Given the description of an element on the screen output the (x, y) to click on. 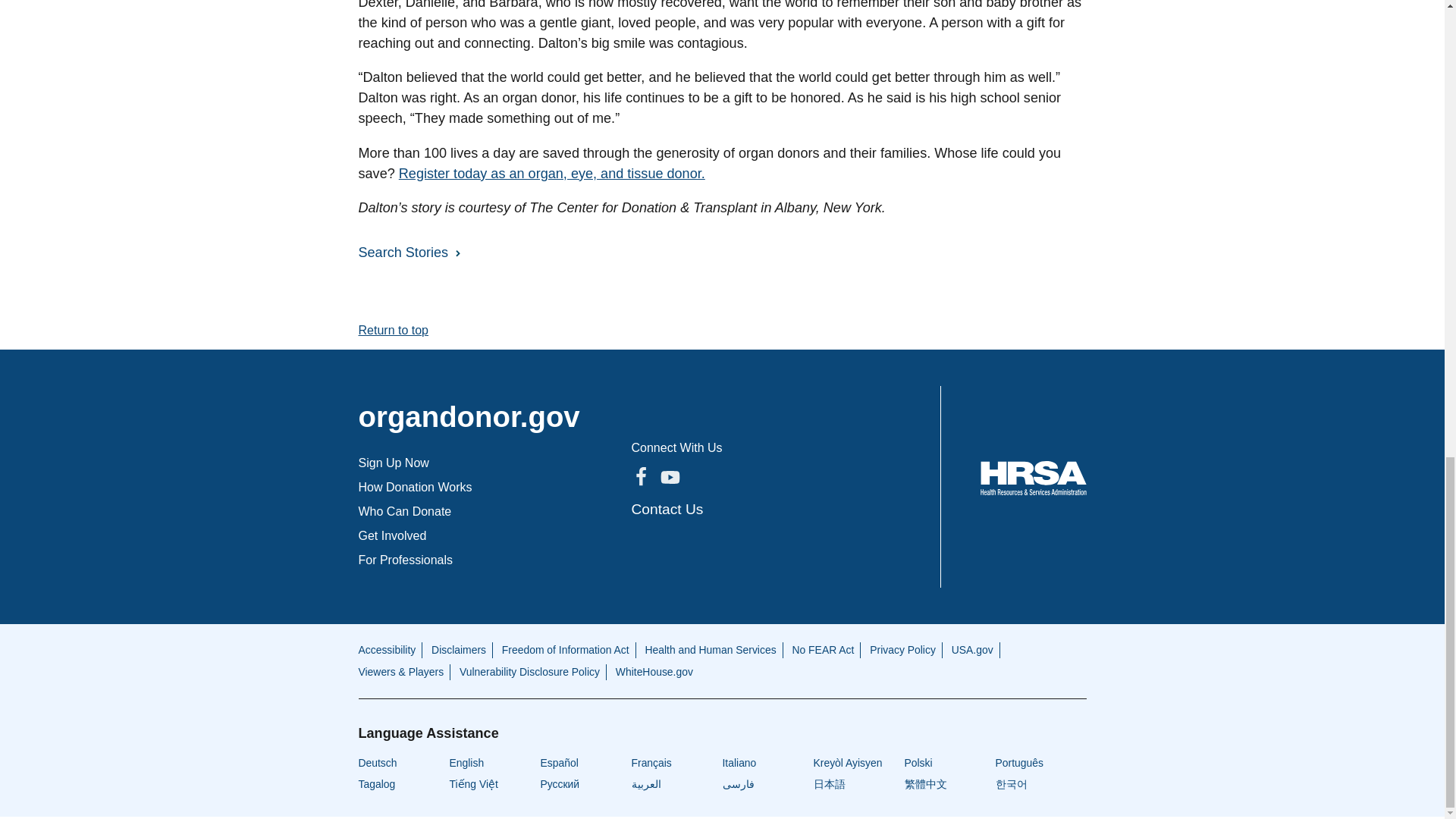
Return to top (393, 329)
No FEAR Act (822, 649)
How Donation Works (414, 486)
Sign Up Now (393, 462)
For Professionals (405, 559)
Disclaimers (458, 649)
Government links to helpful resources and sites (386, 649)
Contact Us (666, 508)
Who Can Donate (404, 511)
Facebook (640, 476)
Health and Human Services (710, 649)
HRSA Health Resources and Services Administration (1032, 478)
Privacy Policy (902, 649)
Get Involved (392, 535)
YouTube (669, 476)
